Given the description of an element on the screen output the (x, y) to click on. 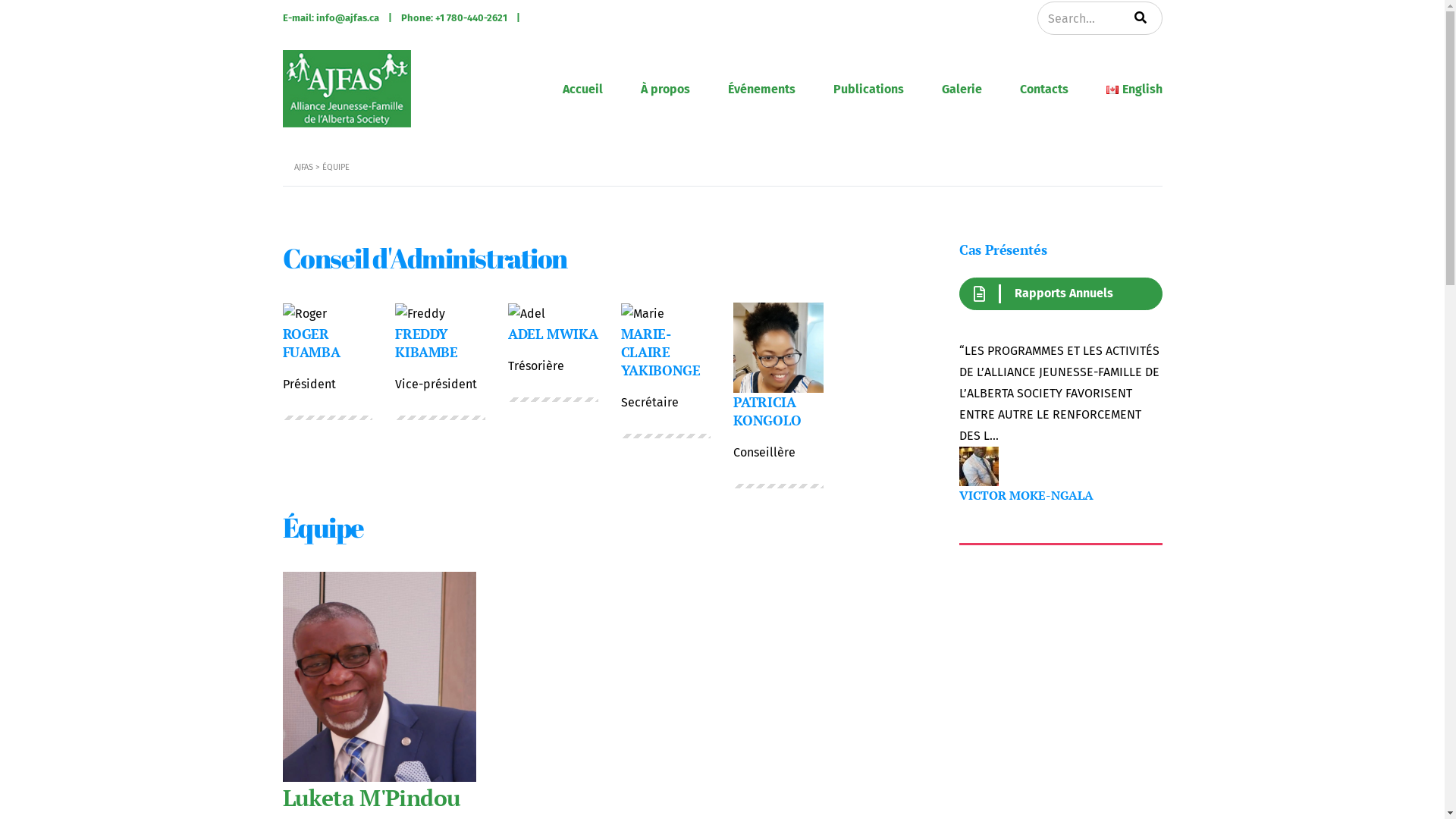
Freddy Element type: hover (420, 313)
Roger Element type: hover (304, 313)
AJFAS Element type: text (303, 167)
Adel Element type: hover (526, 313)
Publications Element type: text (868, 89)
Luketa Element type: hover (378, 676)
English Element type: text (1134, 89)
Accueil Element type: text (582, 89)
Rapports Annuels Element type: text (1060, 293)
Galerie Element type: text (961, 89)
Patricia Element type: hover (778, 347)
victormoke Element type: hover (978, 466)
Contacts Element type: text (1043, 89)
Marie Element type: hover (642, 313)
